Given the description of an element on the screen output the (x, y) to click on. 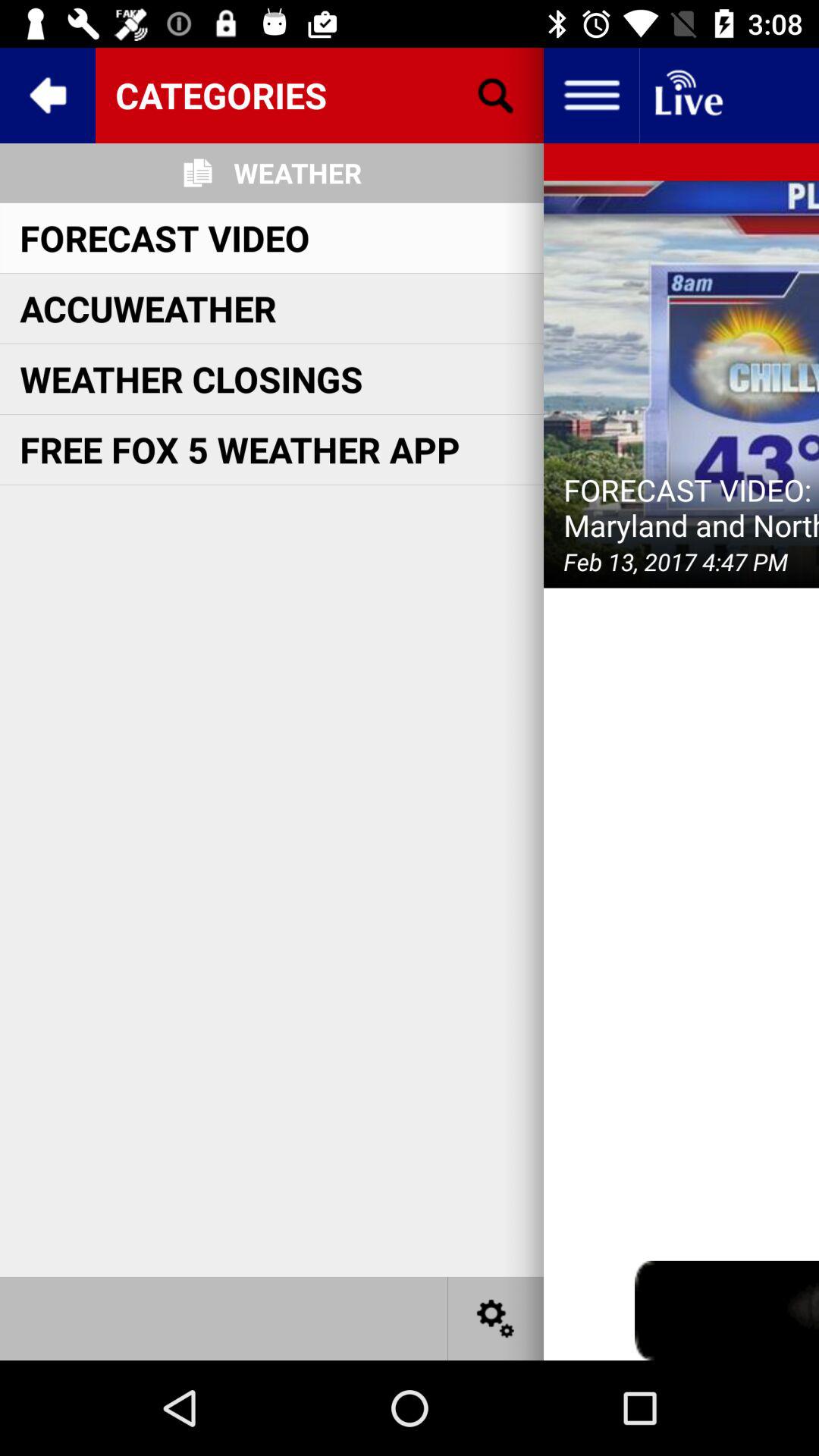
press the icon above weather closings item (147, 308)
